Given the description of an element on the screen output the (x, y) to click on. 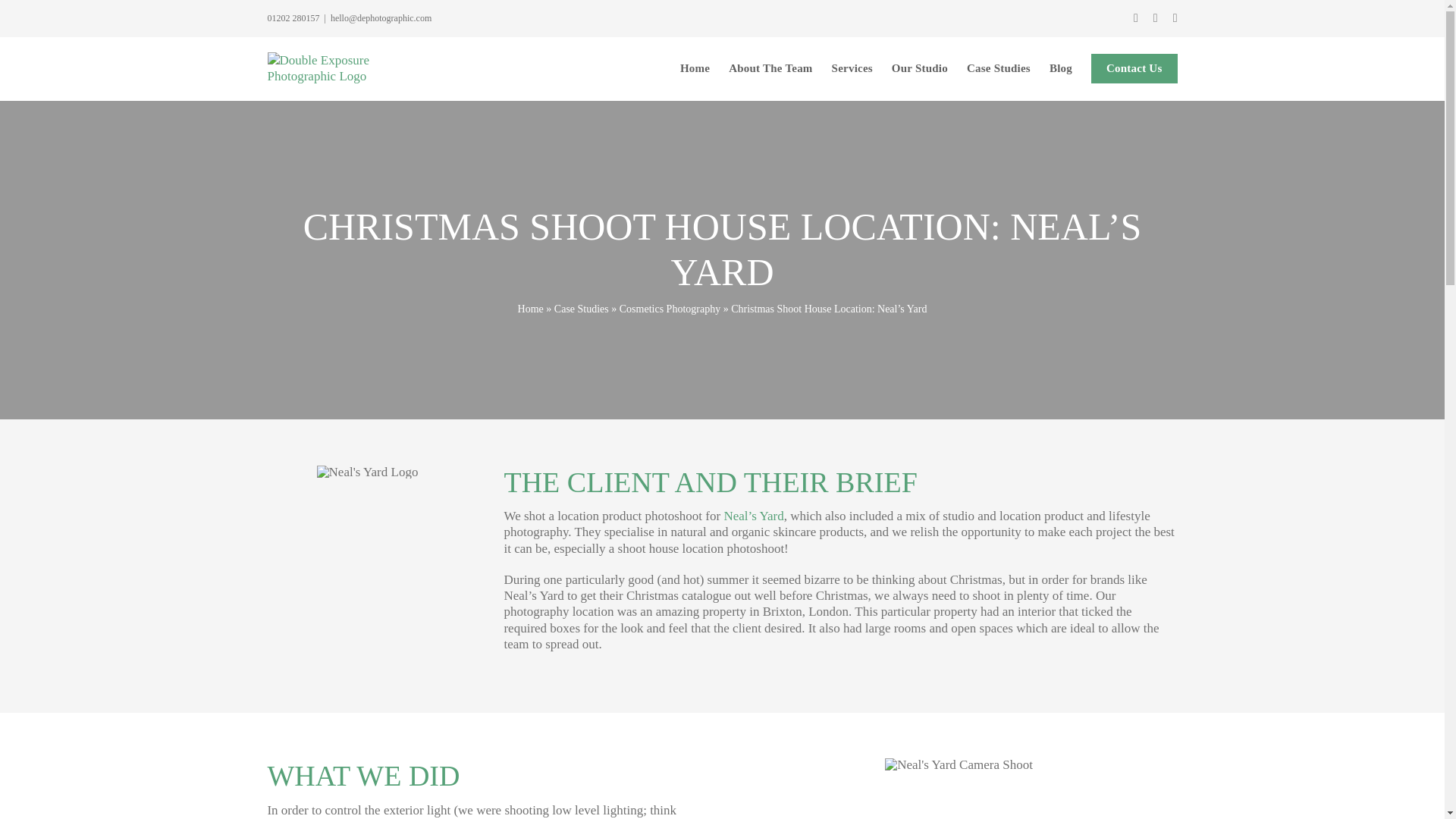
Our Studio (919, 67)
Case Studies (581, 308)
01202 280157 (292, 18)
Cosmetics Photography (670, 308)
About The Team (770, 67)
Case Studies (998, 67)
Contact Us (1133, 67)
Home (530, 308)
